Given the description of an element on the screen output the (x, y) to click on. 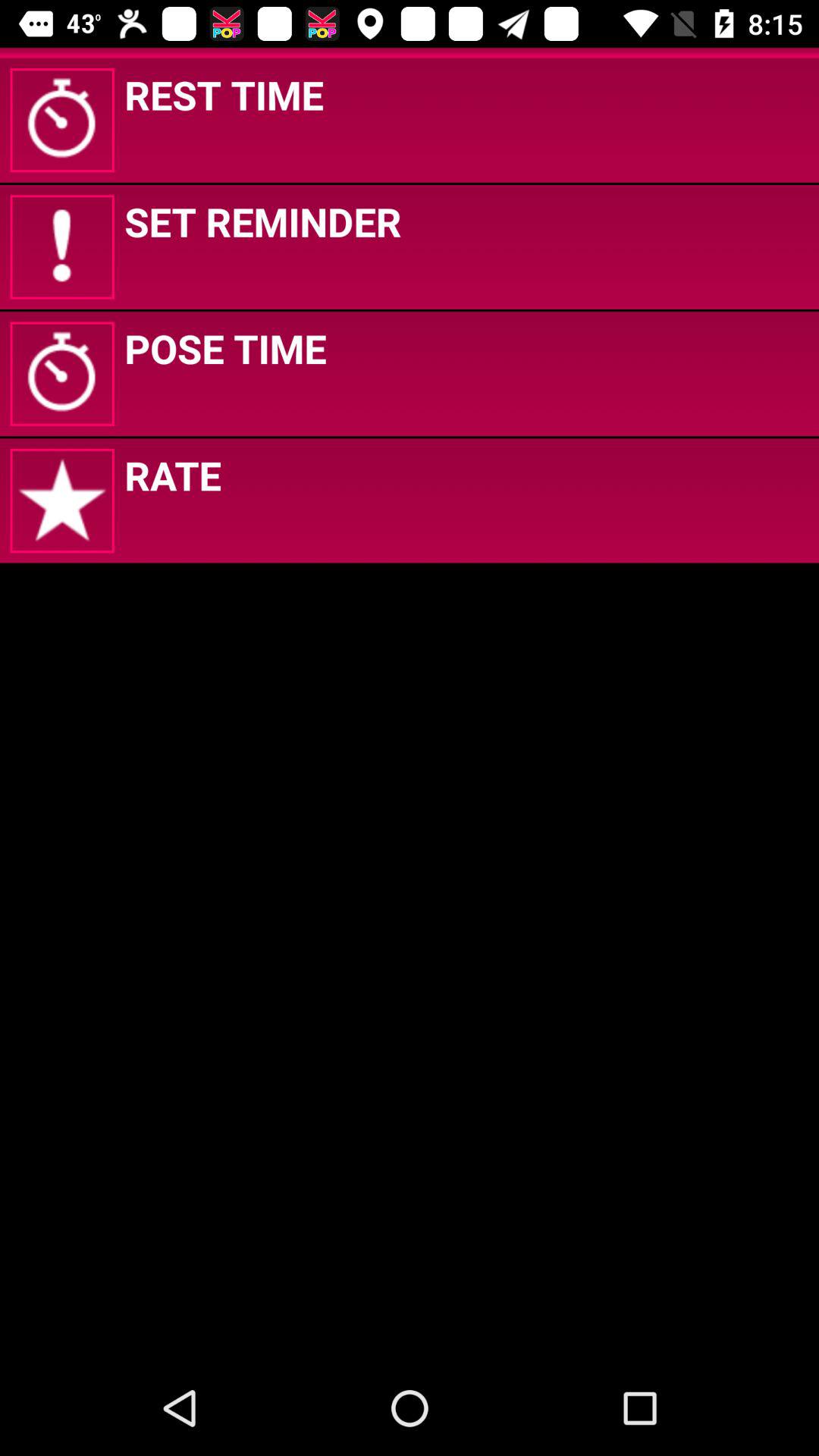
click icon above the set reminder app (223, 94)
